Given the description of an element on the screen output the (x, y) to click on. 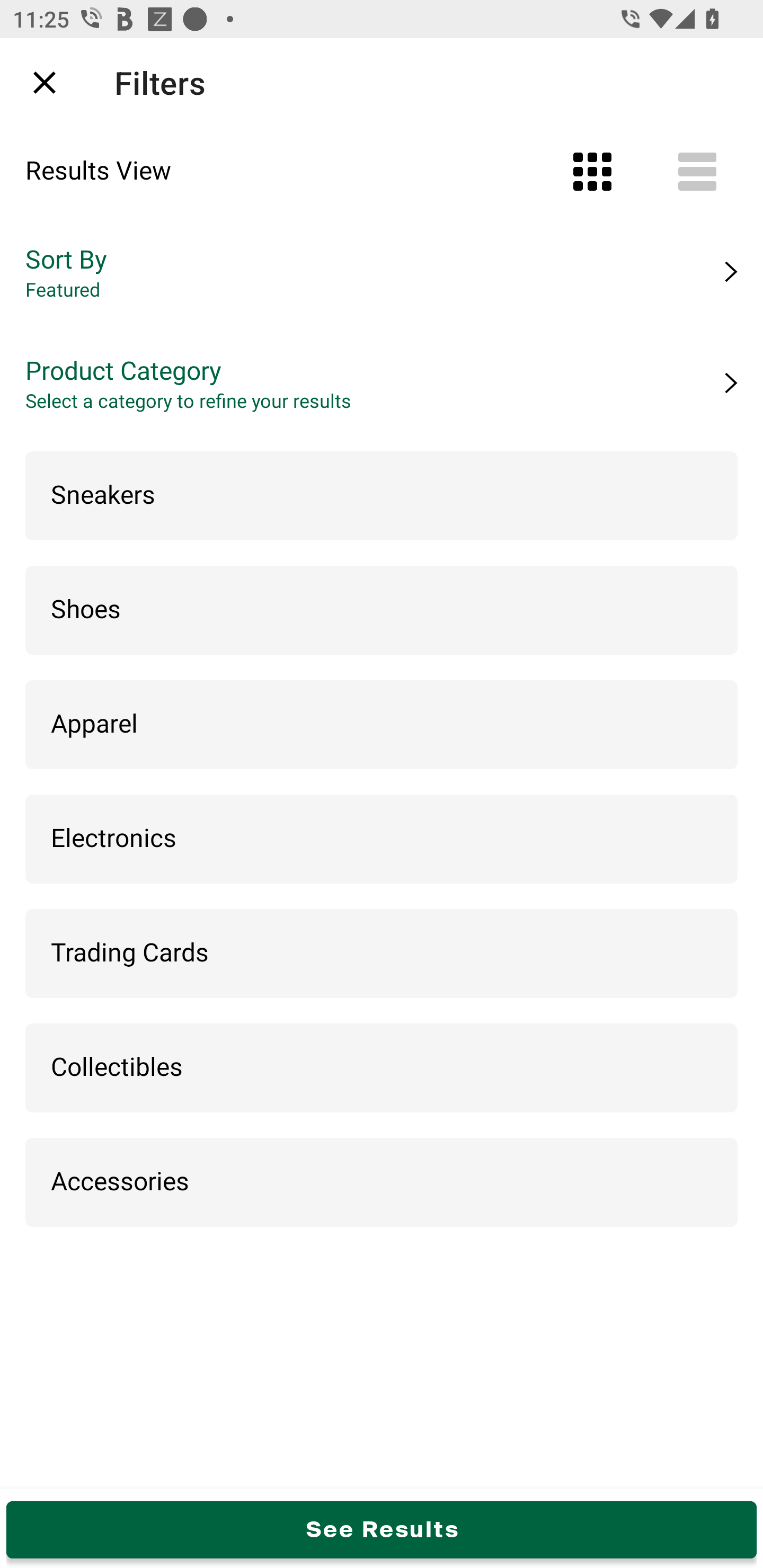
flats (370, 82)
Grid View (591, 171)
List View (697, 171)
Sort By Featured Next (381, 271)
Sneakers (381, 496)
Shoes (381, 610)
Apparel (381, 724)
Electronics (381, 839)
Trading Cards (381, 953)
Collectibles (381, 1068)
Accessories (381, 1182)
See Results (381, 1529)
